Given the description of an element on the screen output the (x, y) to click on. 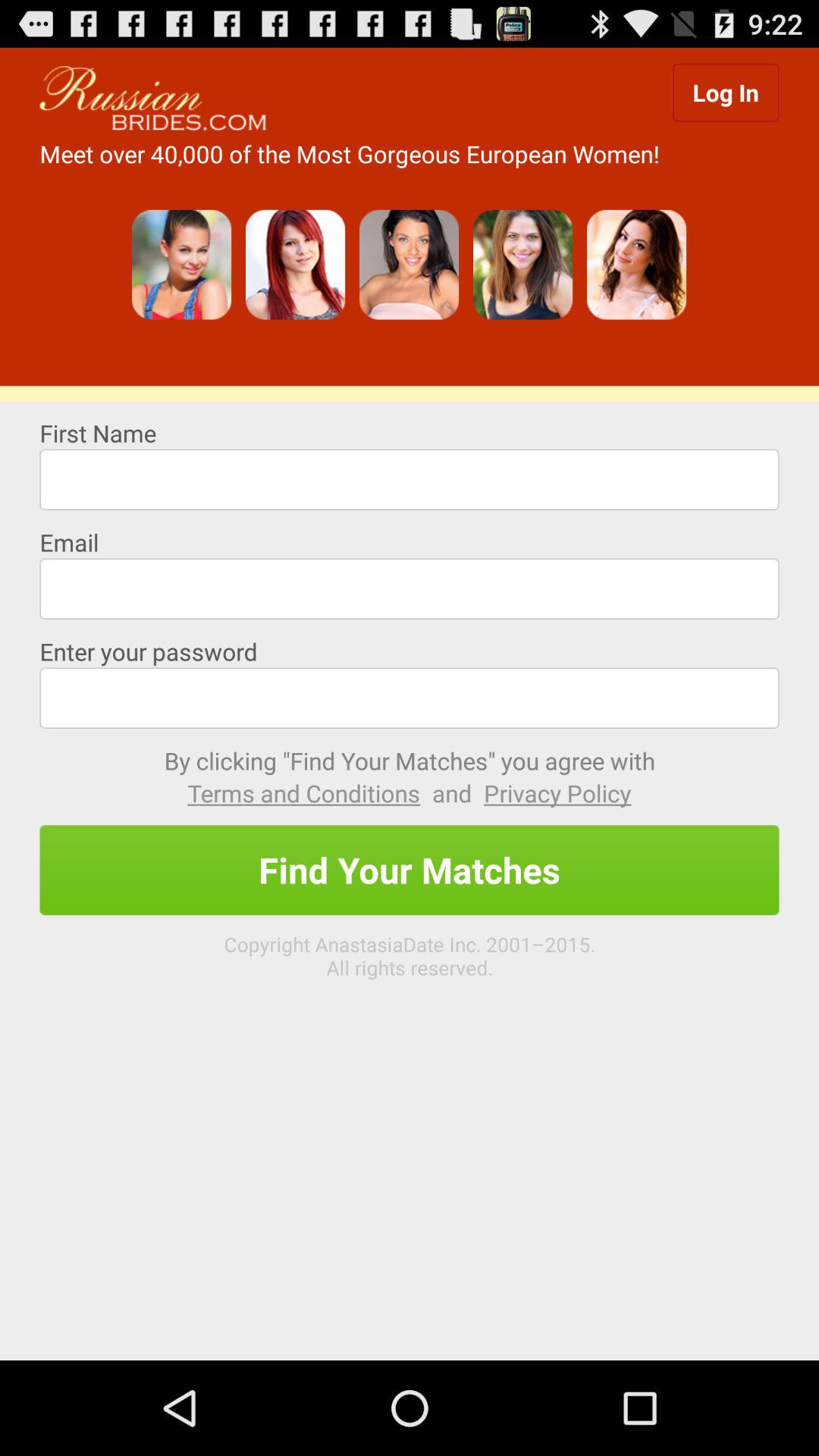
enter name (409, 479)
